Given the description of an element on the screen output the (x, y) to click on. 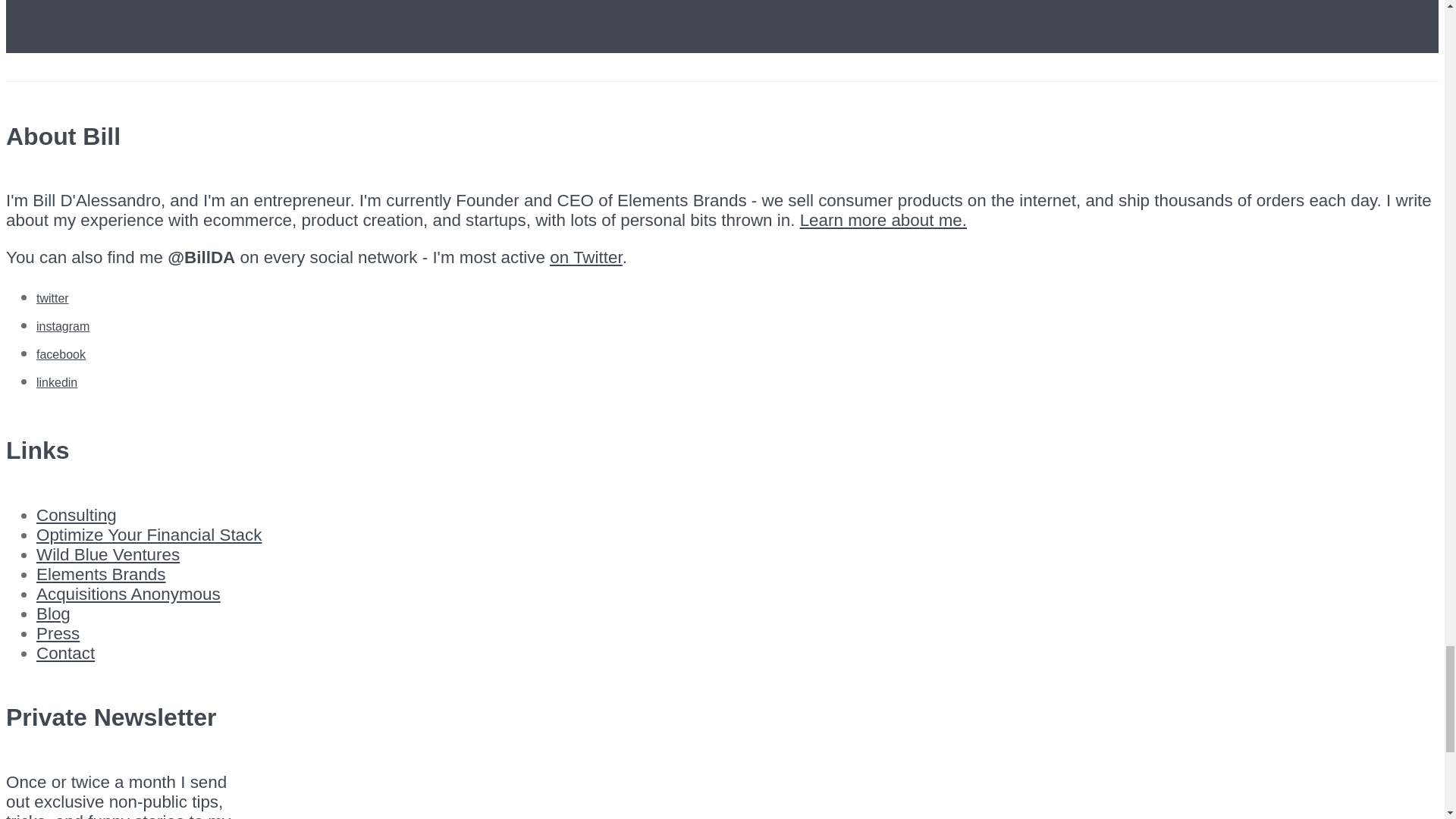
Linkedin (56, 382)
Twitter (52, 297)
Instagram (62, 326)
Facebook (60, 354)
